Given the description of an element on the screen output the (x, y) to click on. 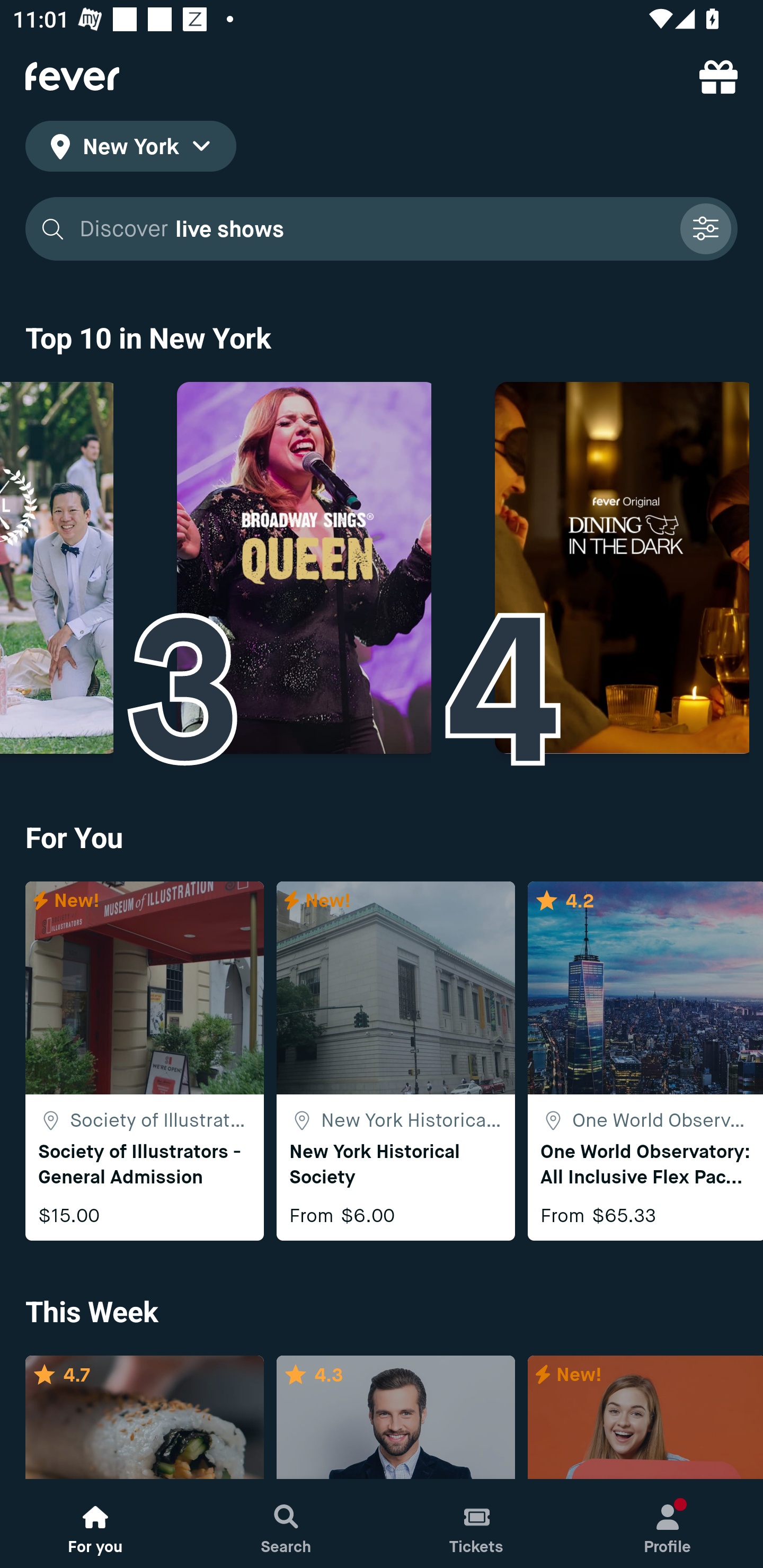
referral (718, 75)
location icon New York location icon (130, 149)
Discover live shows (381, 228)
Discover live shows (373, 228)
Search (285, 1523)
Tickets (476, 1523)
Profile, New notification Profile (667, 1523)
